Given the description of an element on the screen output the (x, y) to click on. 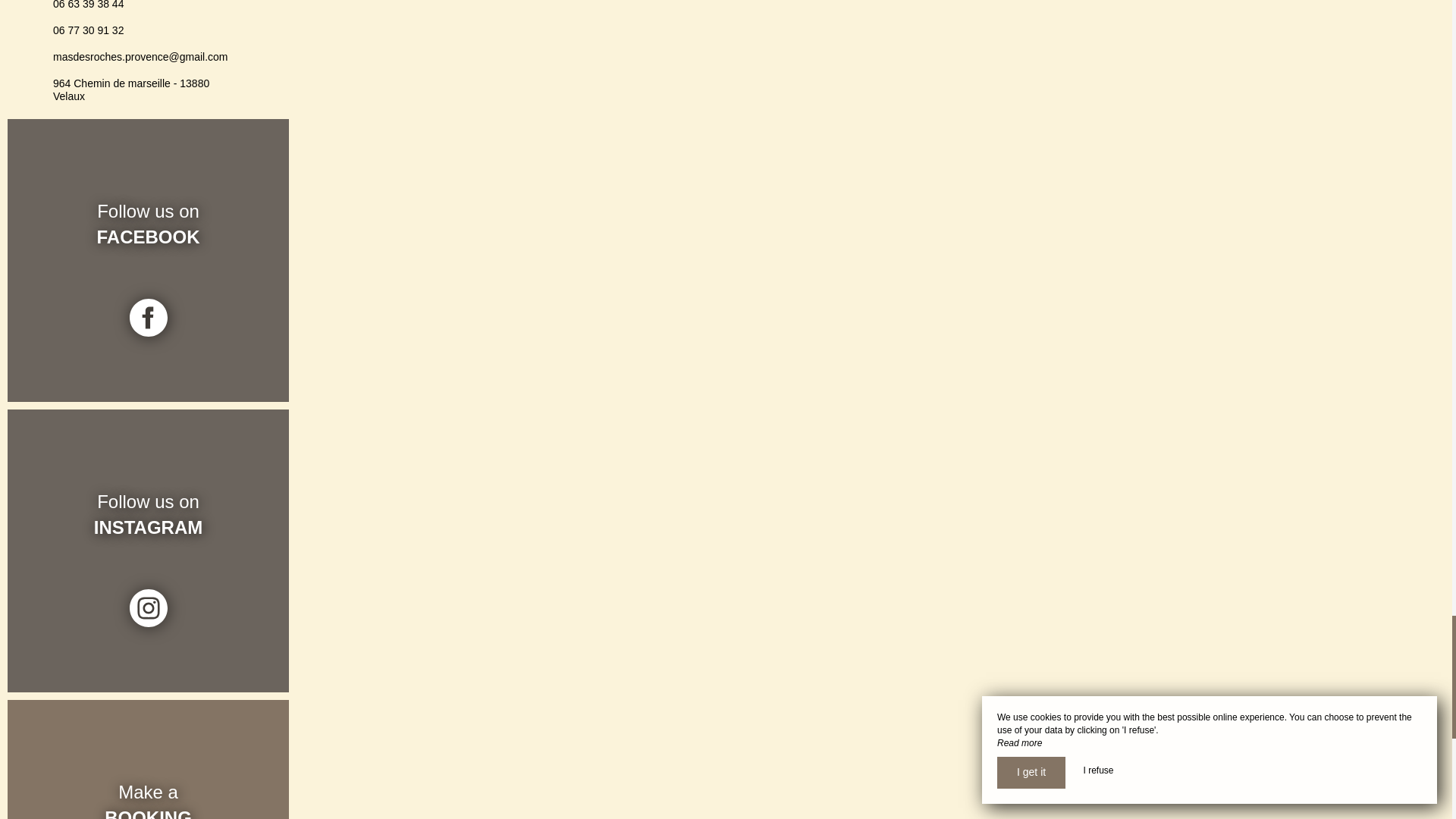
06 77 30 91 32 (87, 30)
964 Chemin de marseille - 13880 Velaux (130, 89)
06 63 39 38 44 (87, 4)
